Given the description of an element on the screen output the (x, y) to click on. 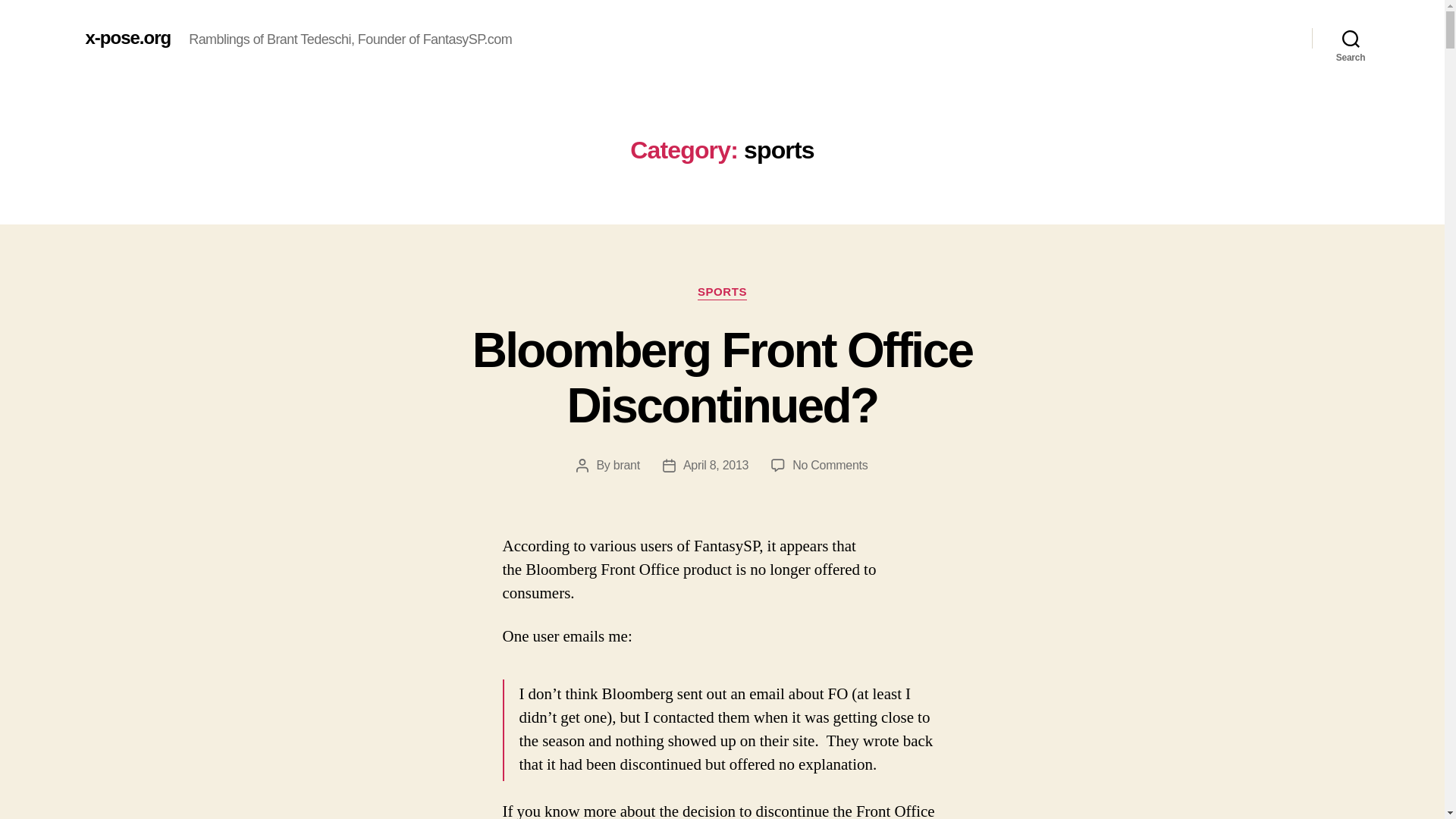
Search (1350, 37)
Bloomberg Front Office Discontinued? (721, 377)
x-pose.org (127, 37)
brant (626, 464)
April 8, 2013 (715, 464)
SPORTS (721, 292)
